Given the description of an element on the screen output the (x, y) to click on. 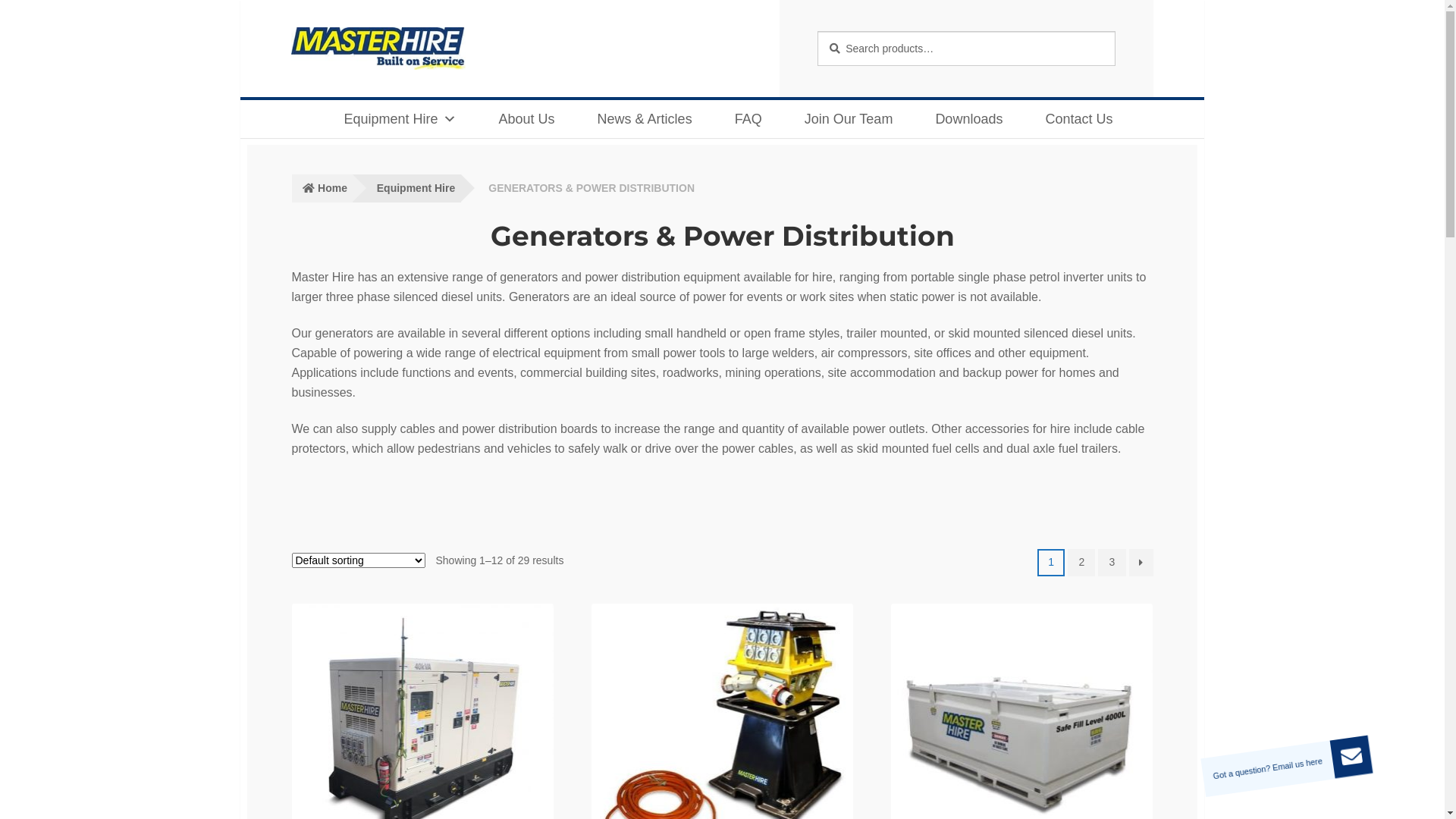
FAQ Element type: text (742, 119)
3 Element type: text (1111, 562)
Contact Us Element type: text (1072, 119)
Home Element type: text (321, 188)
2 Element type: text (1081, 562)
News & Articles Element type: text (638, 119)
Got a question? Email us here Element type: text (1351, 756)
About Us Element type: text (520, 119)
Search Element type: text (816, 30)
Equipment Hire Element type: text (393, 119)
Join Our Team Element type: text (842, 119)
Equipment Hire Element type: text (406, 188)
Downloads Element type: text (962, 119)
